Given the description of an element on the screen output the (x, y) to click on. 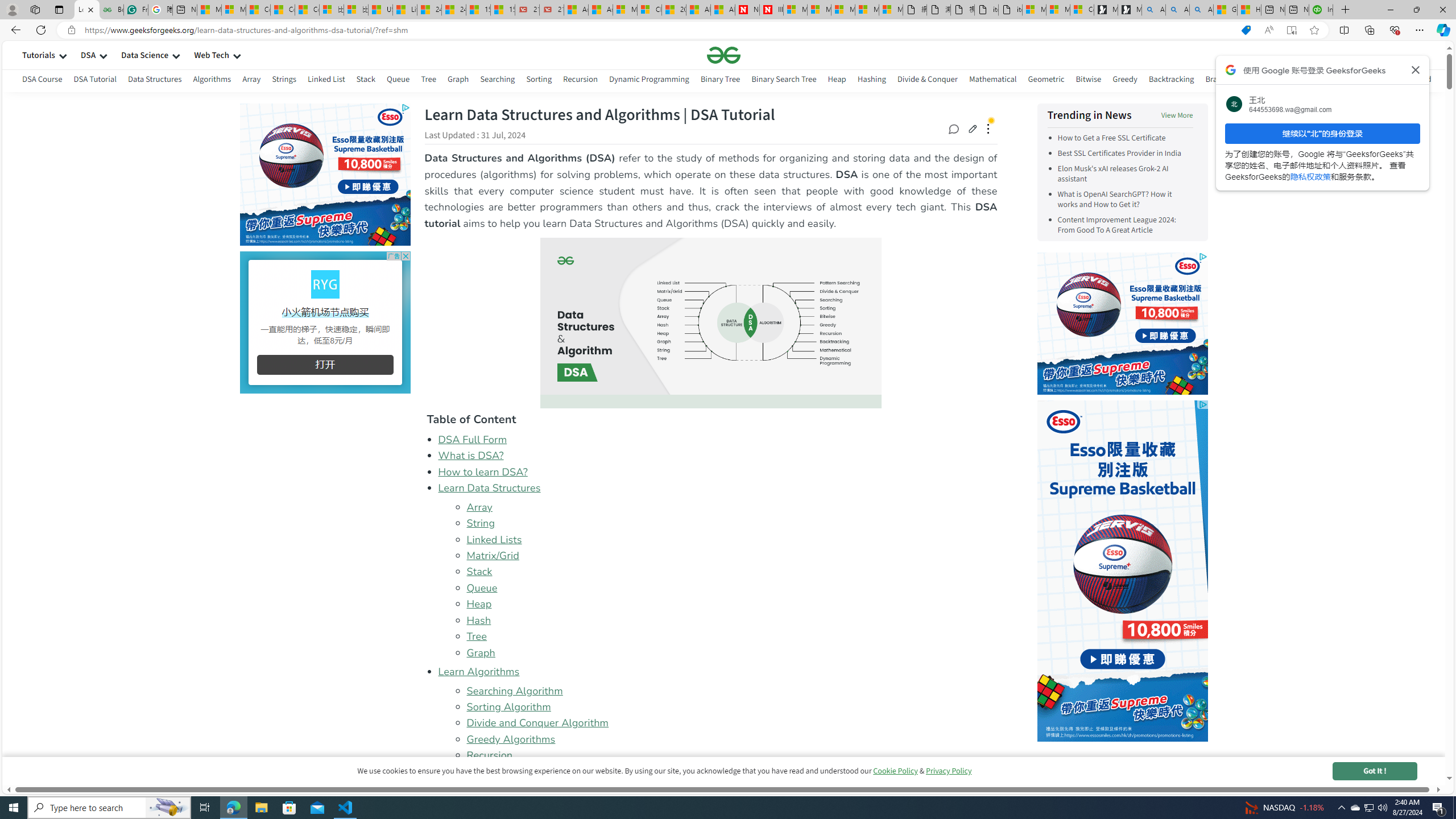
20 Ways to Boost Your Protein Intake at Every Meal (673, 9)
Strings (283, 80)
DSA Full Form (717, 438)
Geometric (1046, 79)
Recursion (731, 755)
How to Get a Free SSL Certificate (1125, 137)
Divide & Conquer (927, 79)
Linked List (325, 80)
DSA Full Form (472, 439)
DSA (88, 55)
